Given the description of an element on the screen output the (x, y) to click on. 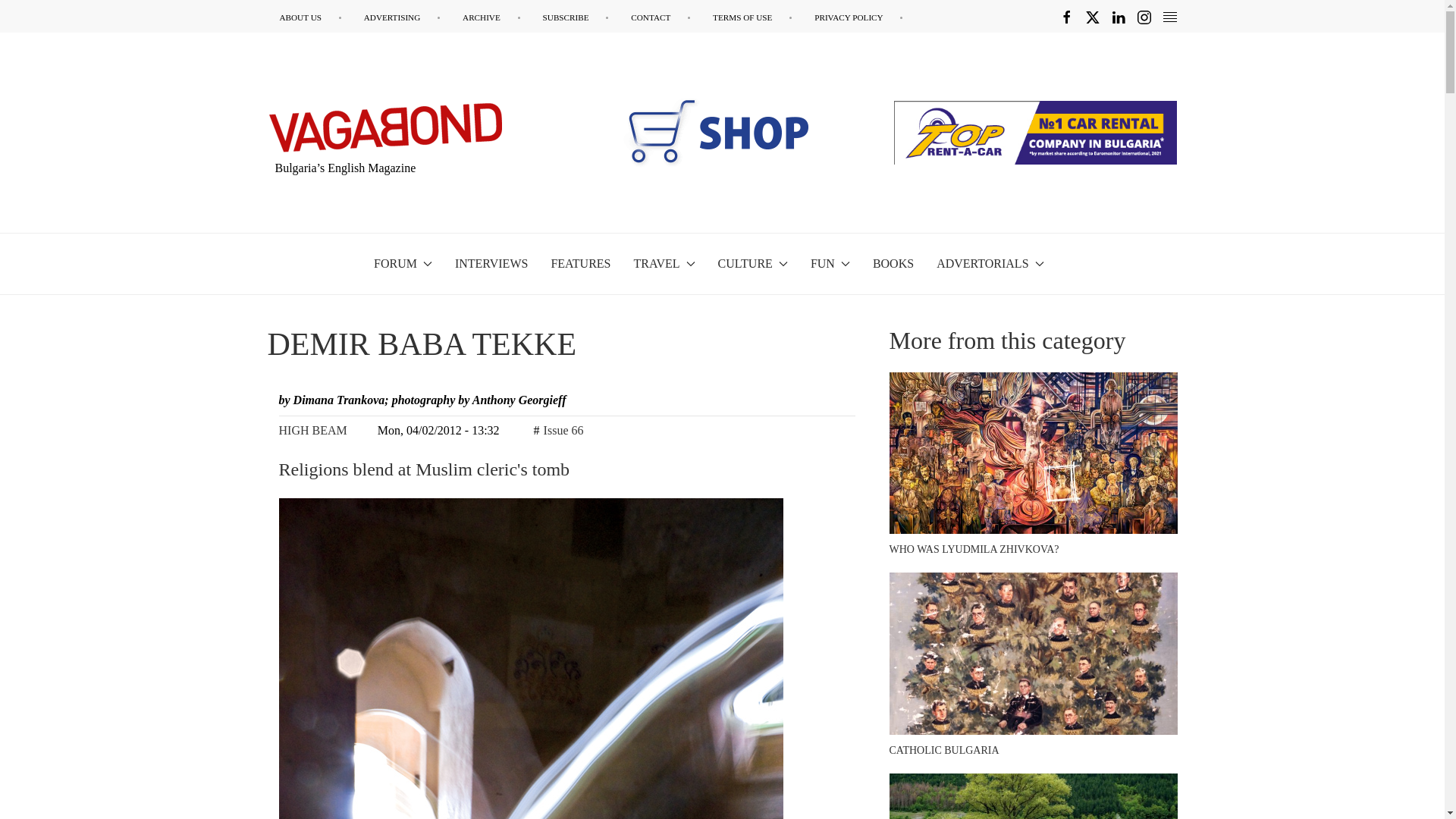
FEATURES (580, 263)
SUBSCRIBE (575, 17)
ADVERTISING (401, 17)
INTERVIEWS (490, 263)
FORUM (403, 263)
toprentacar (1034, 131)
SUBSCRIBE (575, 17)
fsi books (705, 131)
FEATURES (580, 263)
FORUM (403, 263)
toprentacar (1034, 132)
PRIVACY POLICY (857, 17)
CONTACT (660, 17)
TRAVEL (664, 263)
TERMS OF USE (752, 17)
